Given the description of an element on the screen output the (x, y) to click on. 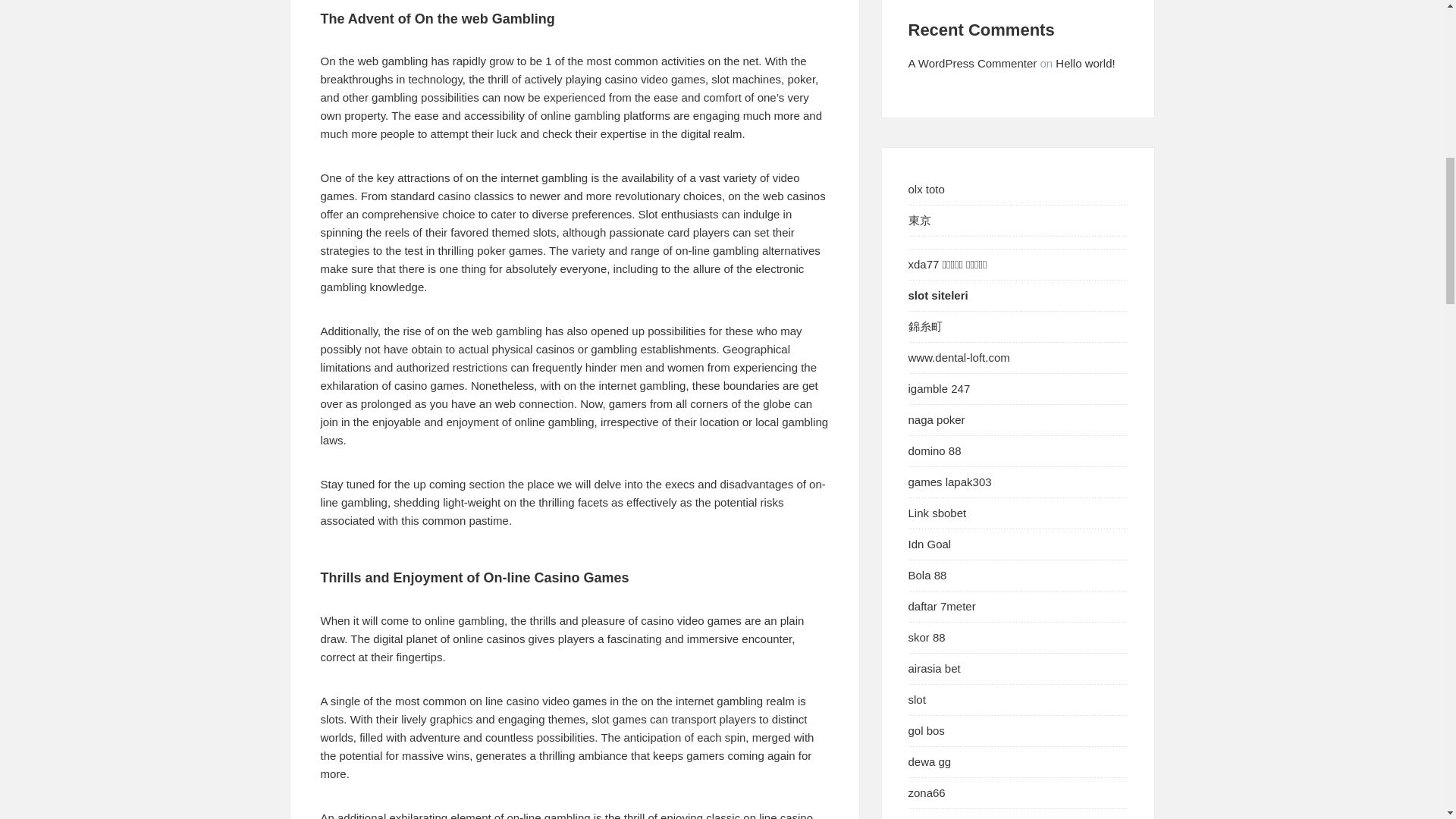
A WordPress Commenter (972, 62)
gol bos (926, 730)
domino 88 (934, 450)
Bola 88 (927, 574)
Idn Goal (930, 543)
skor 88 (926, 636)
igamble 247 (939, 388)
www.dental-loft.com (959, 357)
olx toto (926, 188)
Link sbobet (937, 512)
